Given the description of an element on the screen output the (x, y) to click on. 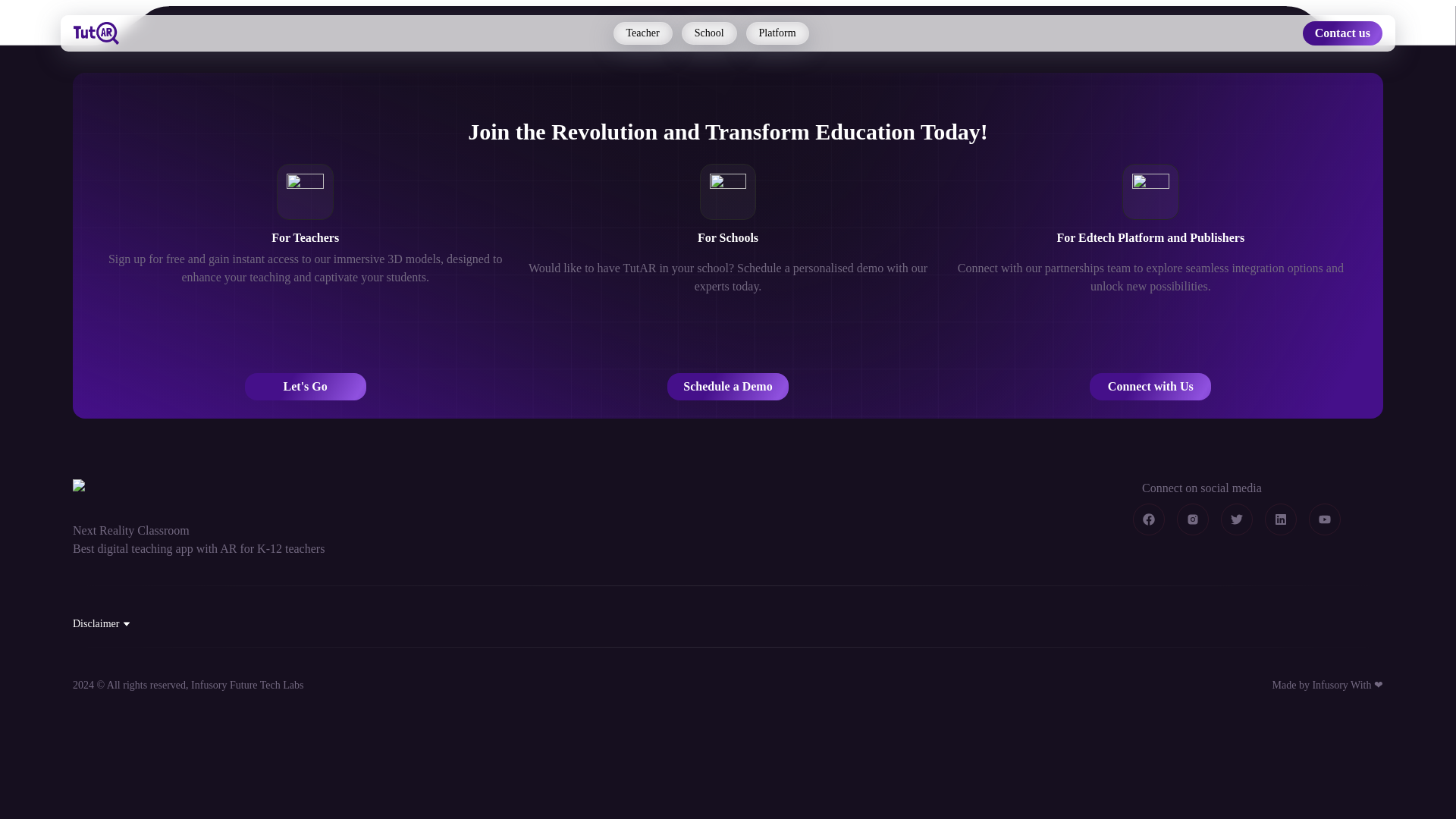
Schedule a Demo (727, 386)
Connect with Us (1150, 386)
Let's Go (305, 386)
